Given the description of an element on the screen output the (x, y) to click on. 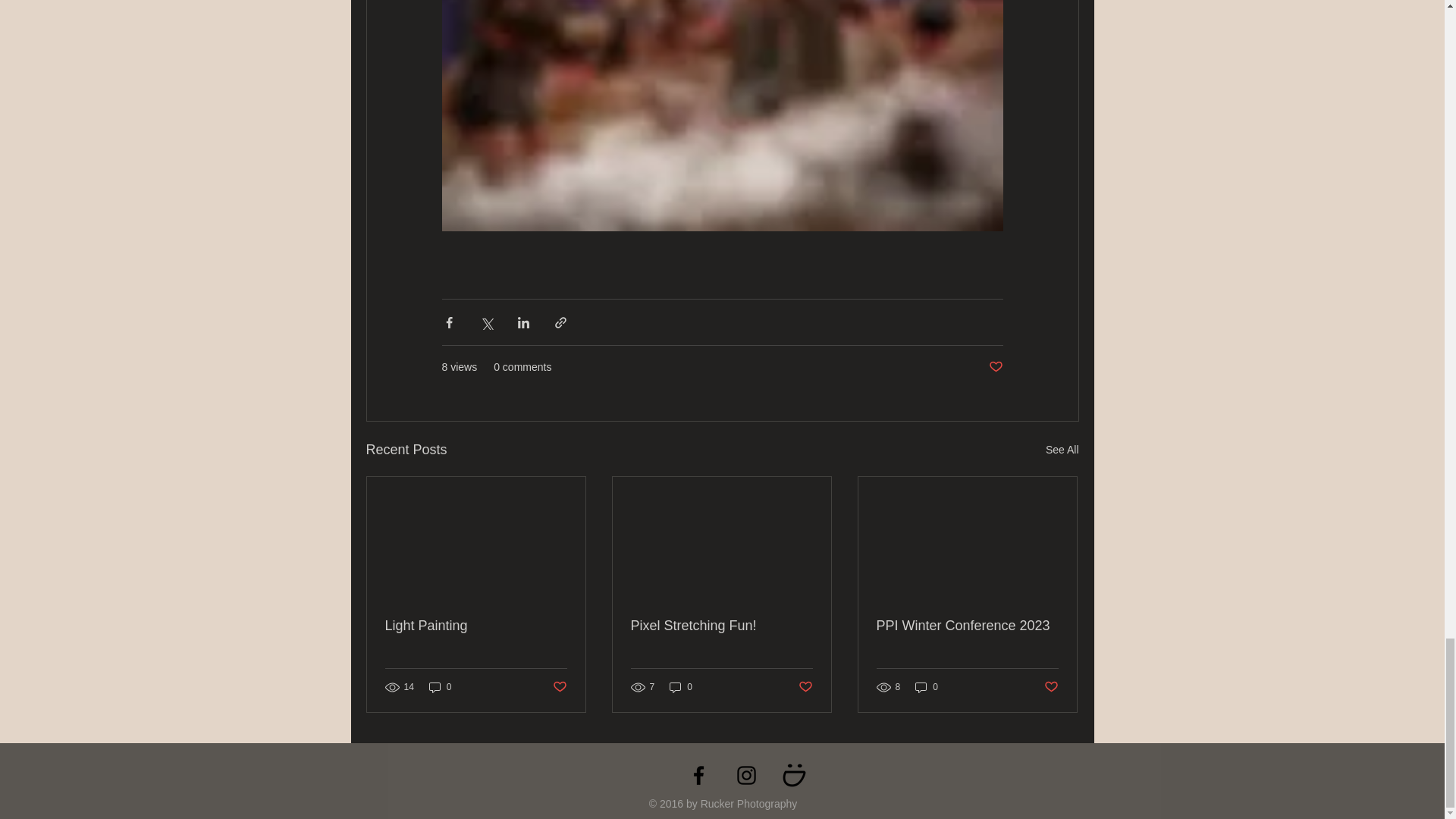
PPI Winter Conference 2023 (967, 625)
Post not marked as liked (804, 687)
Light Painting (476, 625)
0 (926, 687)
Pixel Stretching Fun! (721, 625)
0 (681, 687)
Post not marked as liked (1050, 687)
See All (1061, 449)
Post not marked as liked (995, 367)
0 (440, 687)
Post not marked as liked (558, 687)
